Given the description of an element on the screen output the (x, y) to click on. 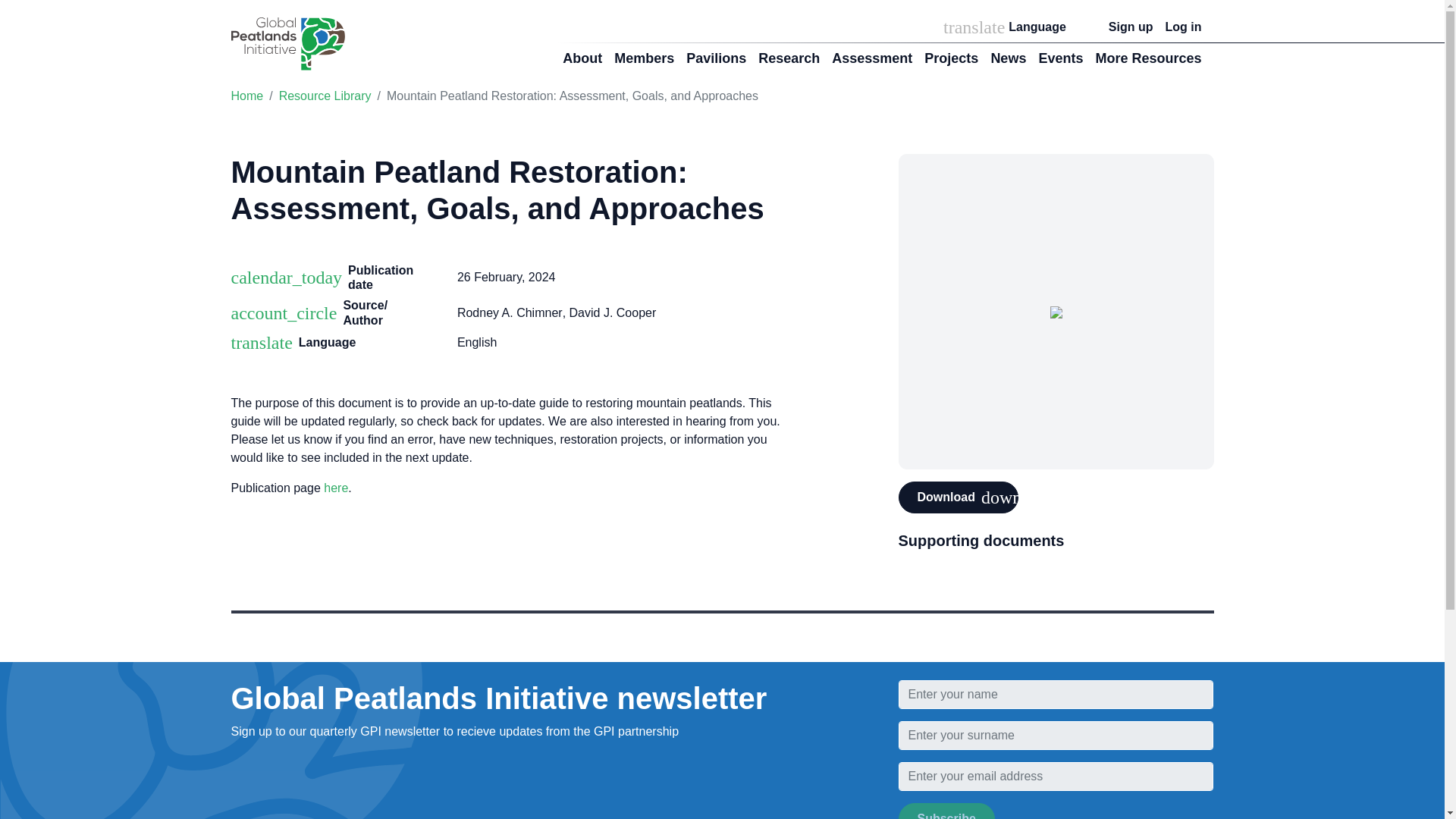
Pavilions (715, 58)
Projects (951, 58)
Assessment (871, 58)
Log in (1183, 27)
Subscribe (946, 811)
News (1008, 58)
More Resources (1148, 58)
Events (1060, 58)
